Given the description of an element on the screen output the (x, y) to click on. 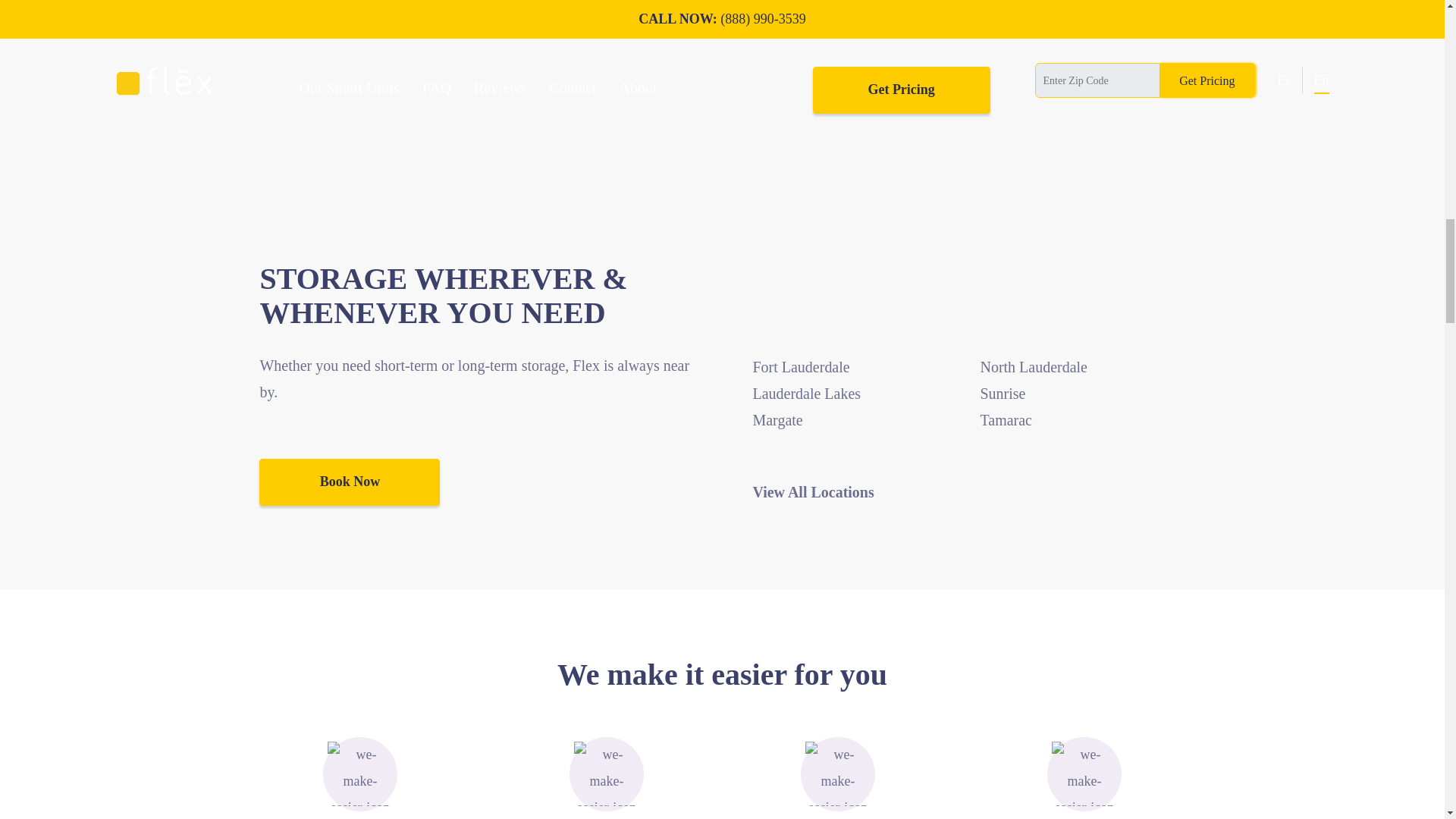
Book Now (349, 482)
Tamarac (1005, 419)
Get Pricing (901, 89)
Lauderdale Lakes (806, 393)
Margate (777, 419)
North Lauderdale (1033, 366)
Fort Lauderdale (800, 366)
View All Locations (968, 492)
Sunrise (1002, 393)
